Given the description of an element on the screen output the (x, y) to click on. 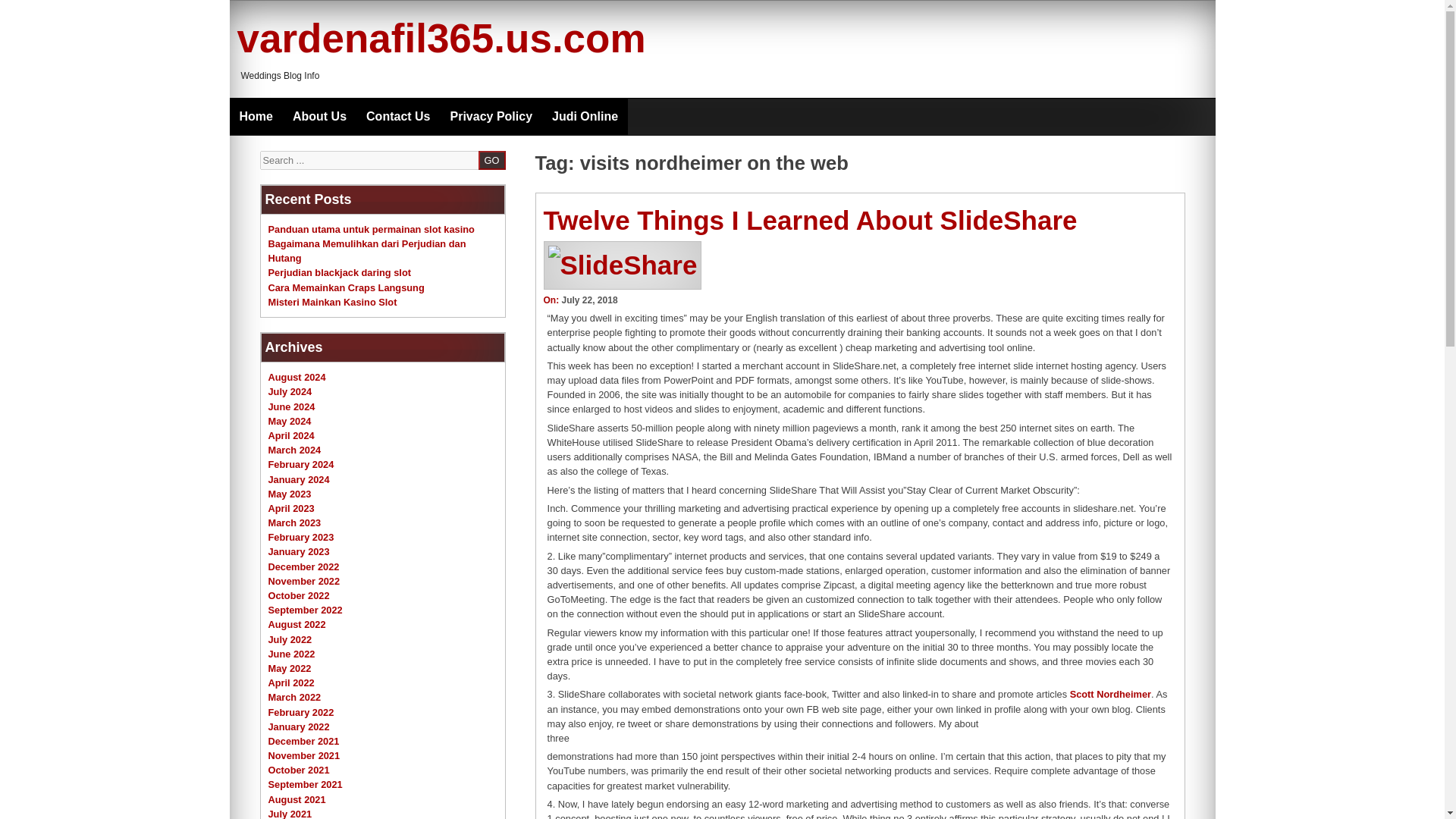
January 2024 (298, 478)
Contact Us (397, 116)
April 2023 (290, 508)
Panduan utama untuk permainan slot kasino (370, 229)
Twelve Things I Learned About SlideShare (810, 220)
August 2024 (296, 377)
Cara Memainkan Craps Langsung (346, 287)
Bagaimana Memulihkan dari Perjudian dan Hutang (366, 250)
July 2024 (290, 391)
Home (255, 116)
GO (492, 158)
April 2024 (290, 435)
Privacy Policy (492, 116)
June 2024 (291, 406)
GO (492, 158)
